Given the description of an element on the screen output the (x, y) to click on. 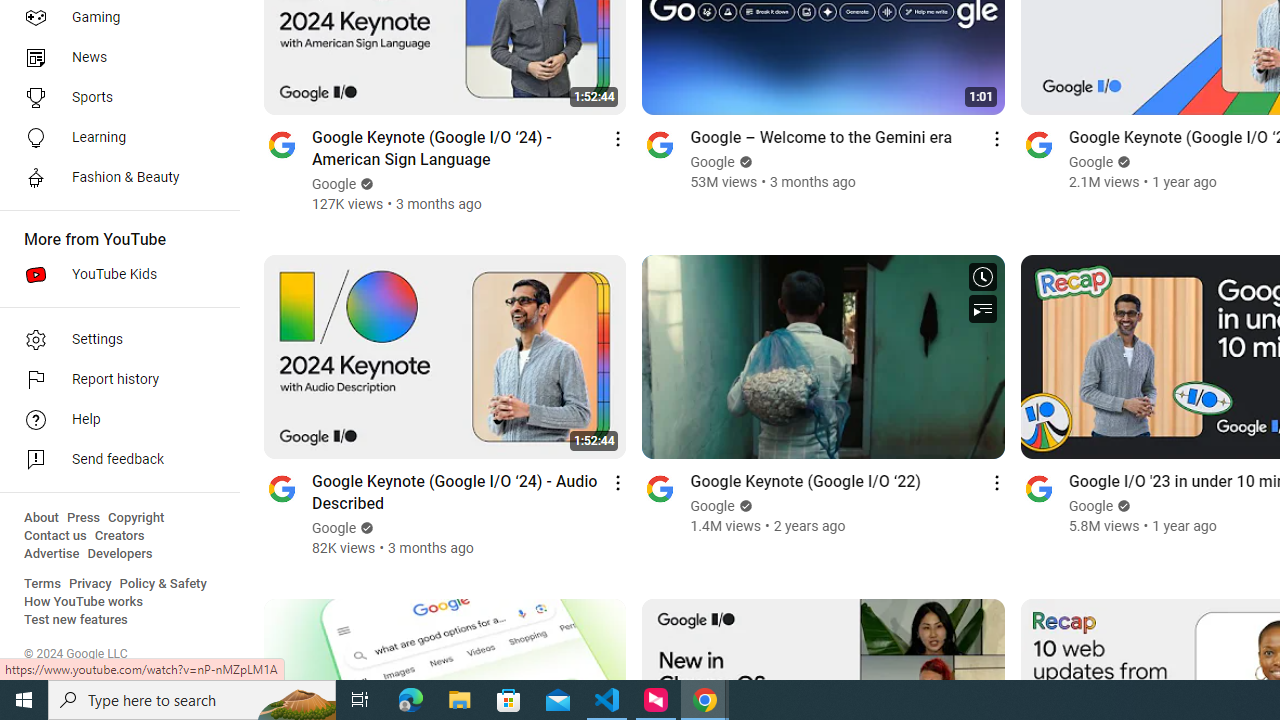
Advertise (51, 554)
Copyright (136, 518)
Fashion & Beauty (113, 177)
Creators (118, 536)
Go to channel (1038, 488)
Press (83, 518)
Learning (113, 137)
Help (113, 419)
Google (1090, 506)
How YouTube works (83, 602)
About (41, 518)
Terms (42, 584)
